Given the description of an element on the screen output the (x, y) to click on. 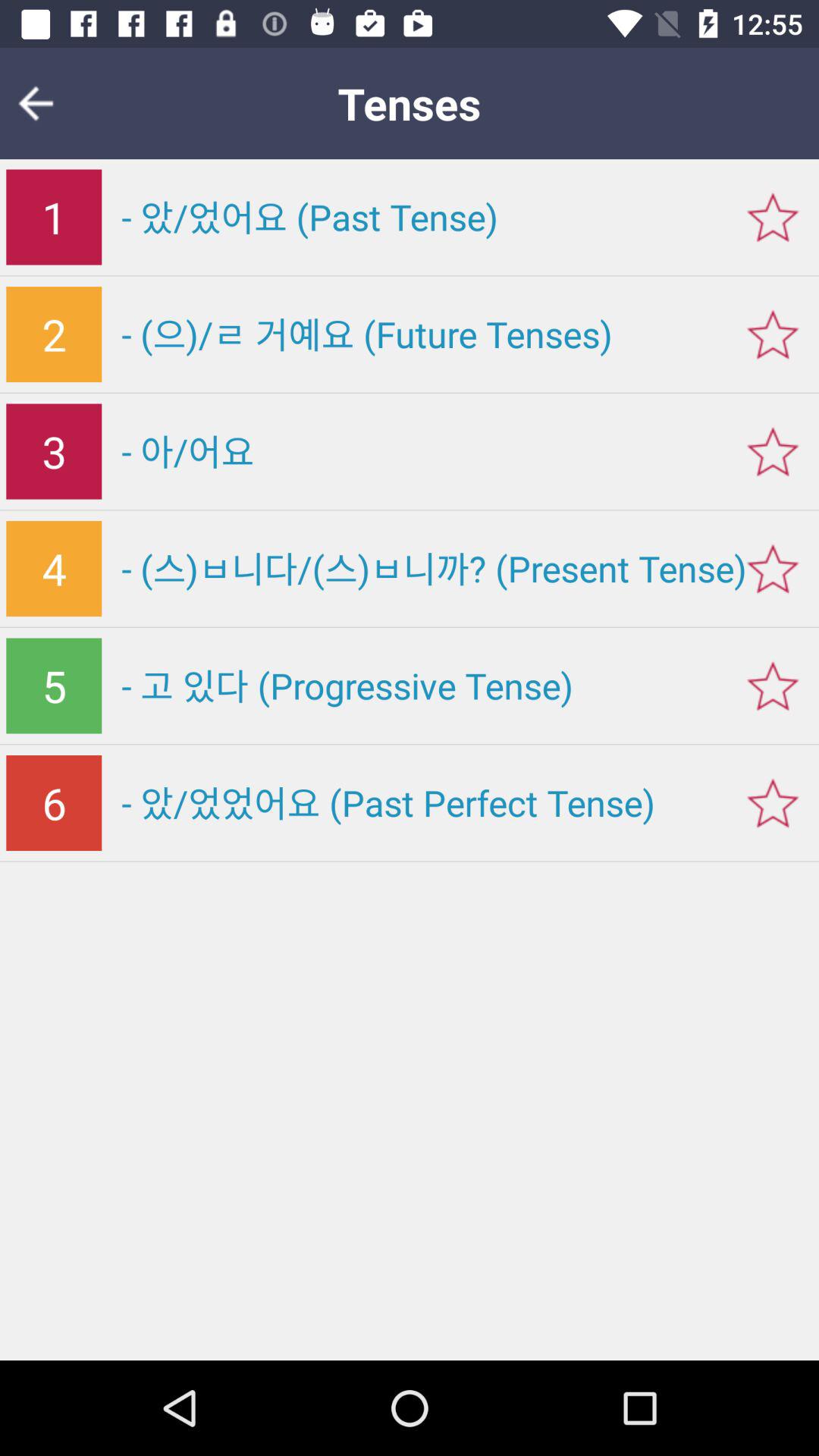
turn off icon to the right of 5 (470, 685)
